Given the description of an element on the screen output the (x, y) to click on. 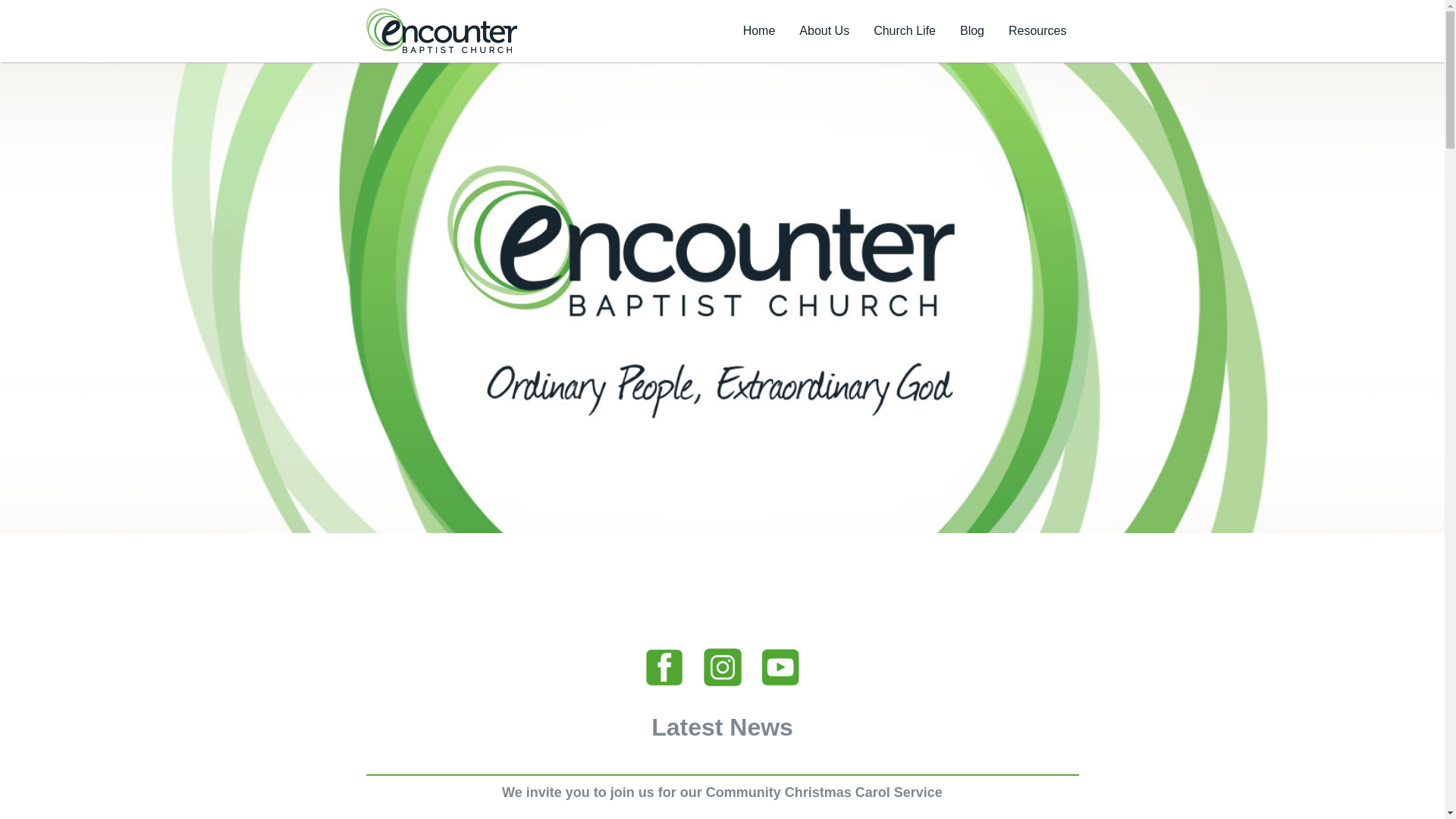
Home Element type: text (759, 31)
Resources Element type: text (1037, 31)
Blog Element type: text (971, 31)
About Us Element type: text (824, 31)
Church Life Element type: text (904, 31)
